Given the description of an element on the screen output the (x, y) to click on. 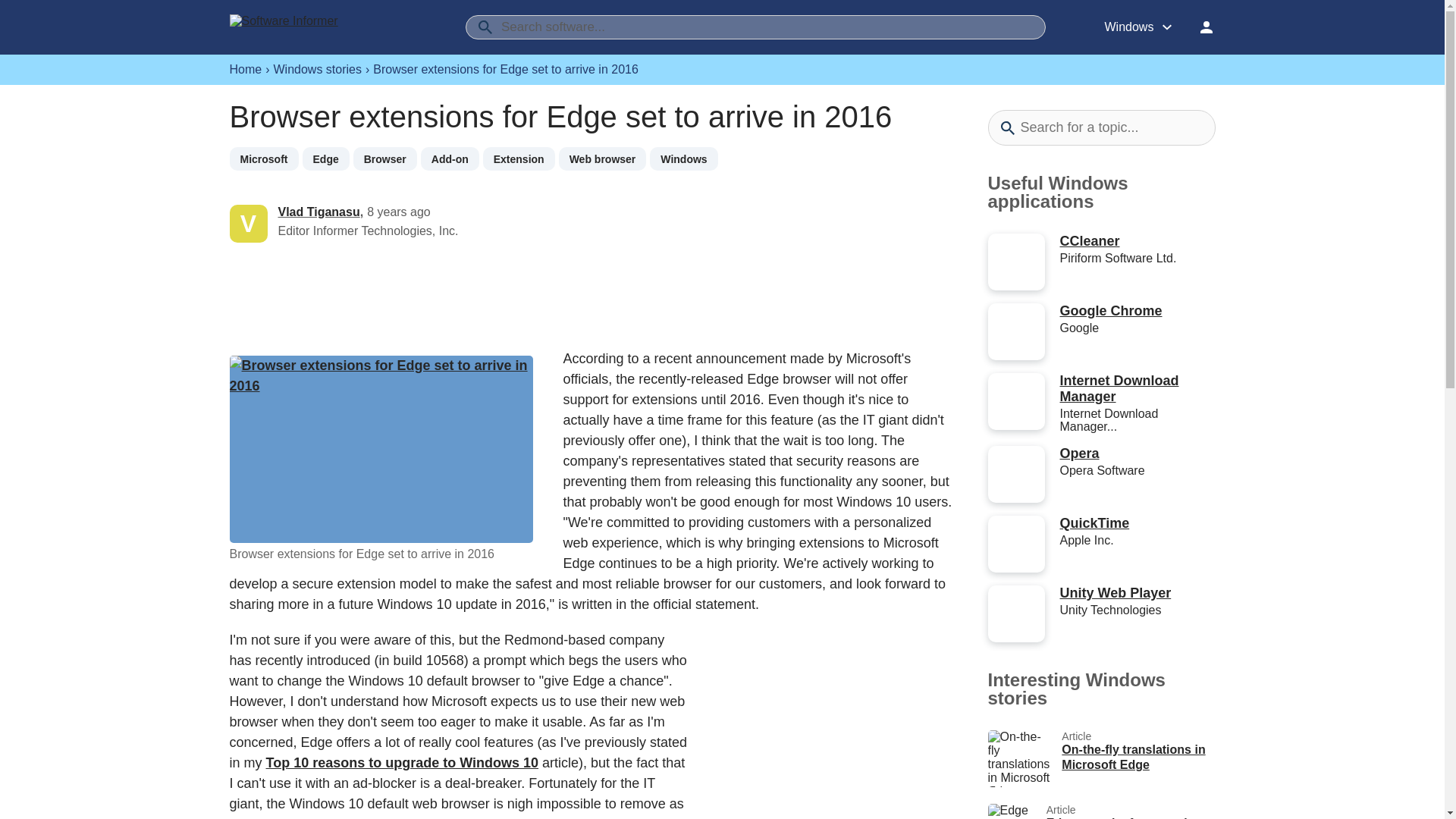
Vlad Tiganasu (318, 211)
Edge (325, 158)
Browser extensions for Edge set to arrive in 2016 (380, 448)
QuickTime (1094, 522)
Top 10 reasons to upgrade to Windows 10 (402, 762)
Unity Web Player (1115, 592)
Windows (1100, 811)
Internet Download Manager (683, 158)
Web browser (1119, 388)
Browser (602, 158)
Opera (384, 158)
